Given the description of an element on the screen output the (x, y) to click on. 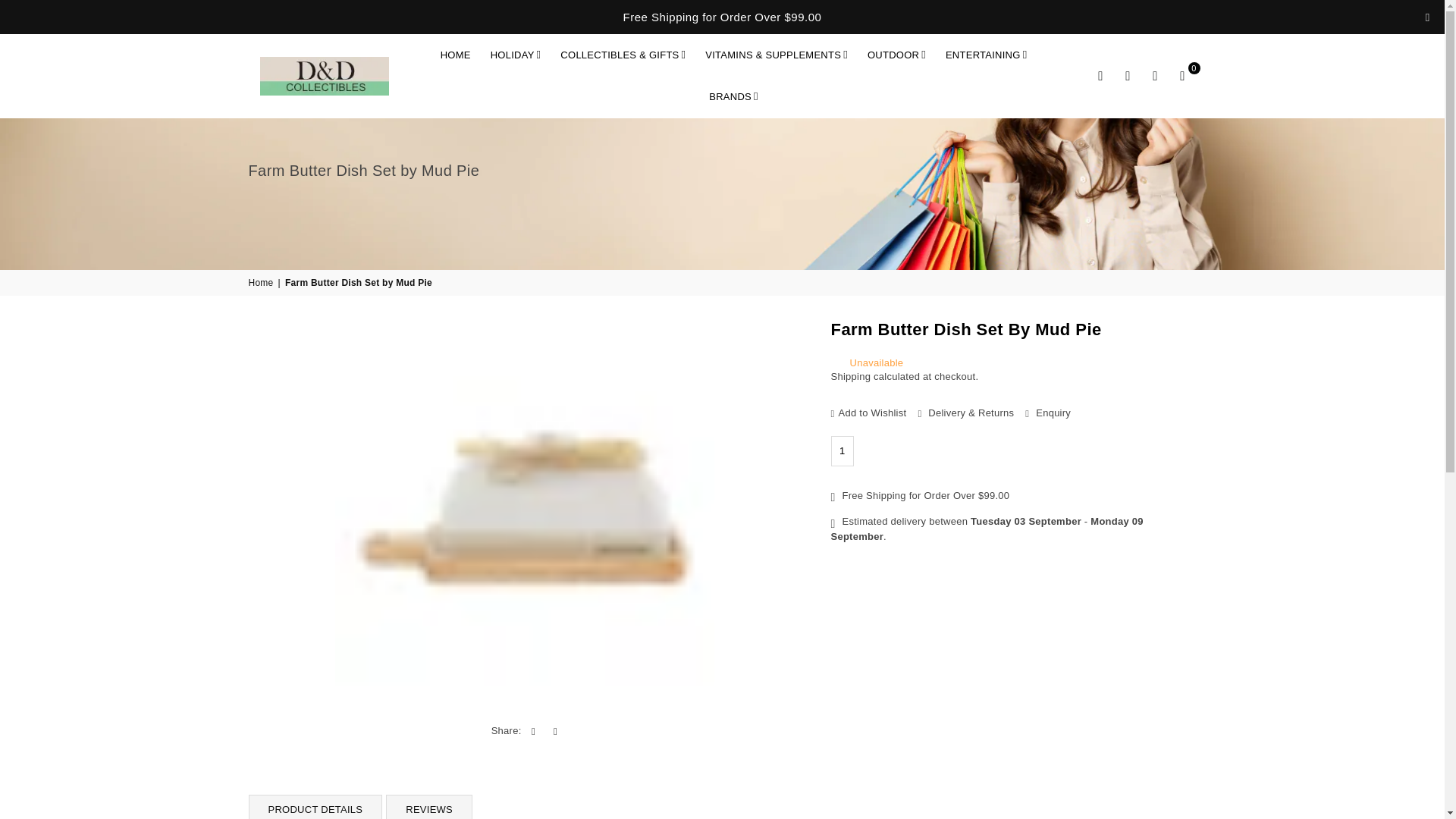
Back to the home page (262, 282)
Settings (1128, 75)
HOLIDAY (515, 55)
Cart (1182, 75)
HOME (455, 55)
Wishlist (1155, 75)
Search (1101, 75)
